Given the description of an element on the screen output the (x, y) to click on. 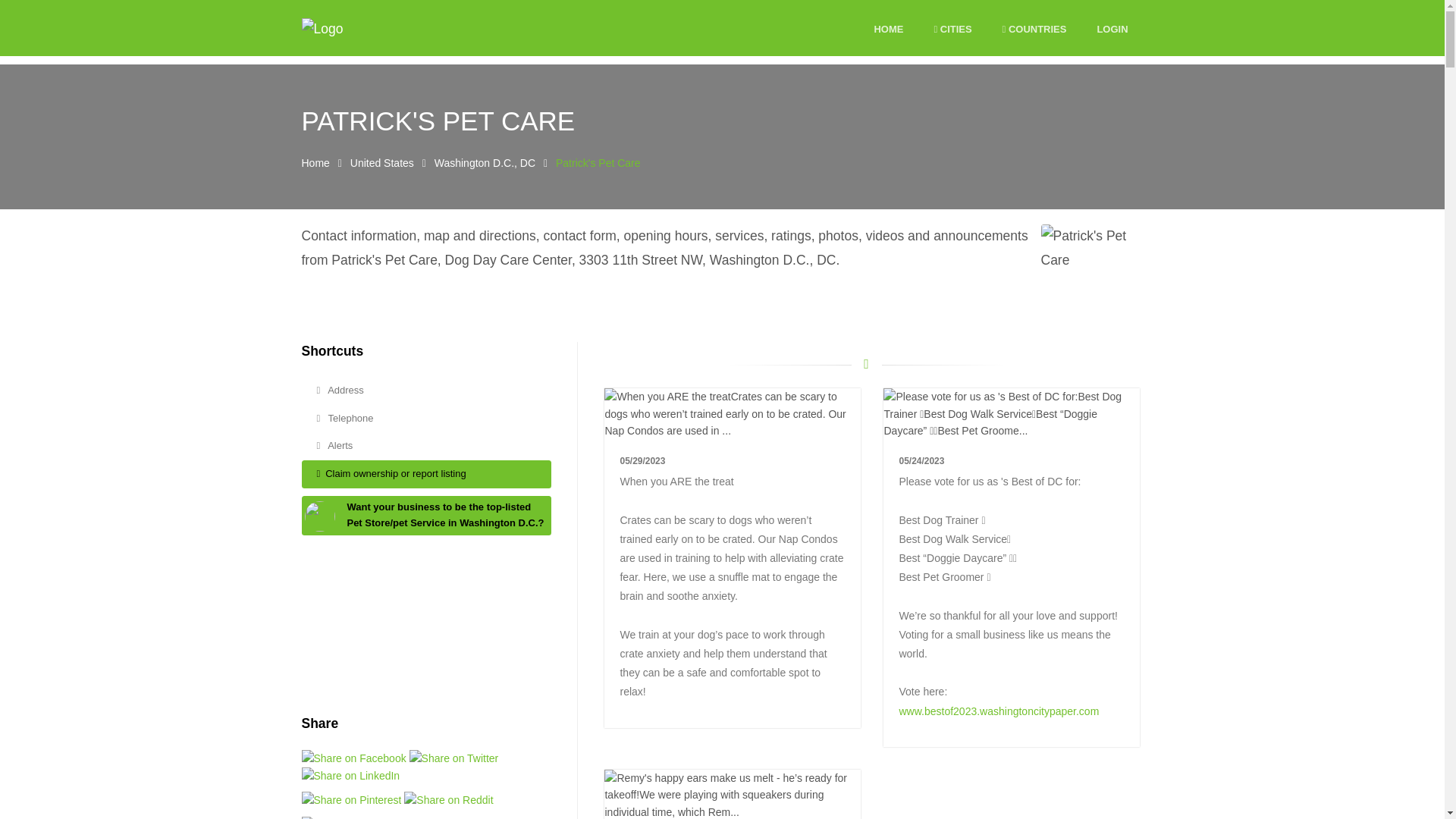
United States (381, 162)
Alerts (426, 446)
CITIES (952, 29)
Home (315, 162)
HOME (887, 29)
Washington D.C., DC (484, 162)
Address (426, 390)
www.bestof2023.washingtoncitypaper.com (998, 711)
Claim ownership or report listing (426, 474)
Telephone (426, 418)
